Given the description of an element on the screen output the (x, y) to click on. 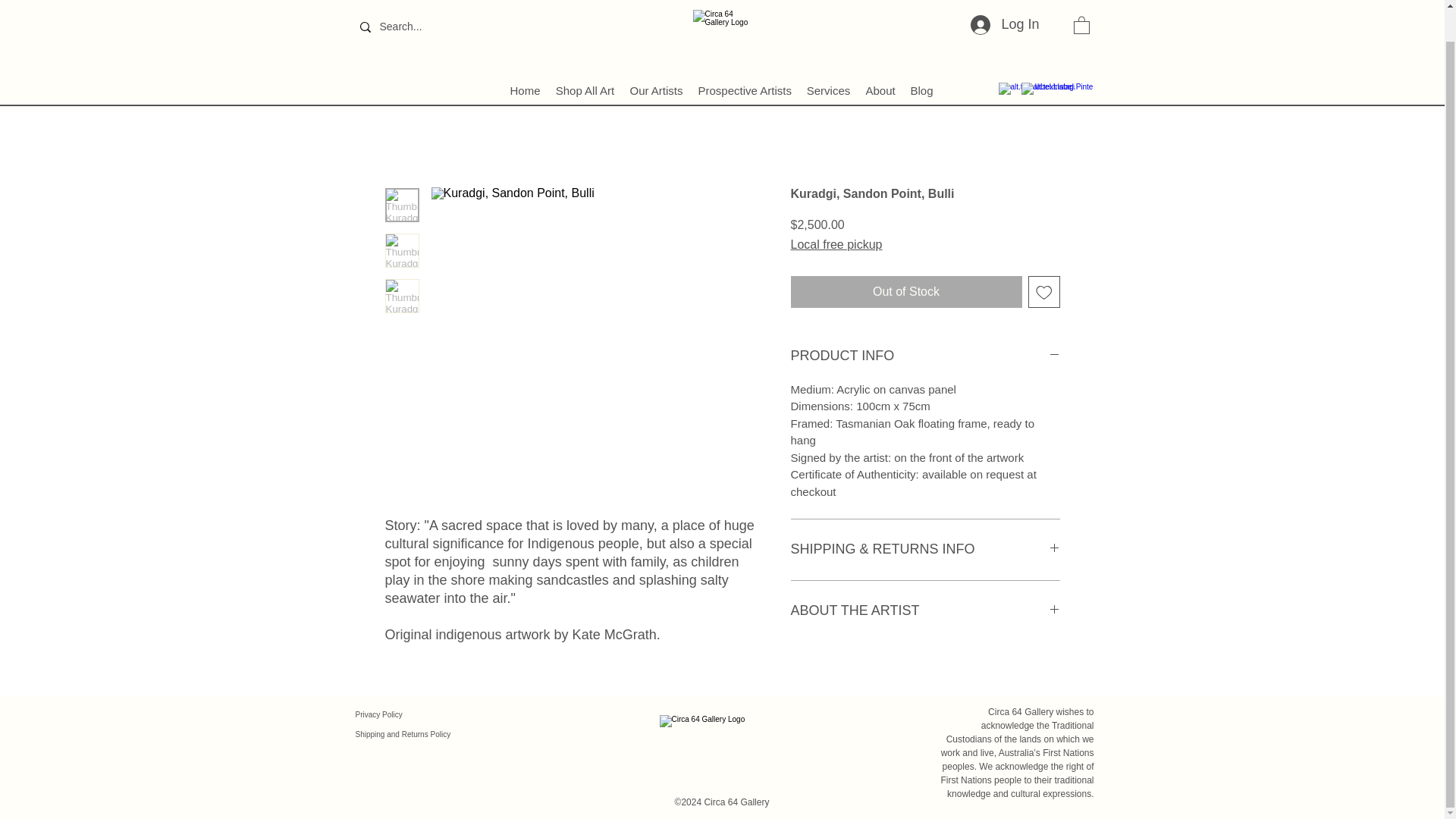
PRODUCT INFO (924, 355)
Services (829, 56)
Prospective Artists (743, 56)
Out of Stock (906, 291)
Our Artists (655, 56)
Home (524, 56)
Log In (1004, 4)
Local free pickup (836, 244)
Shop All Art (584, 56)
About (880, 56)
Blog (921, 56)
